Given the description of an element on the screen output the (x, y) to click on. 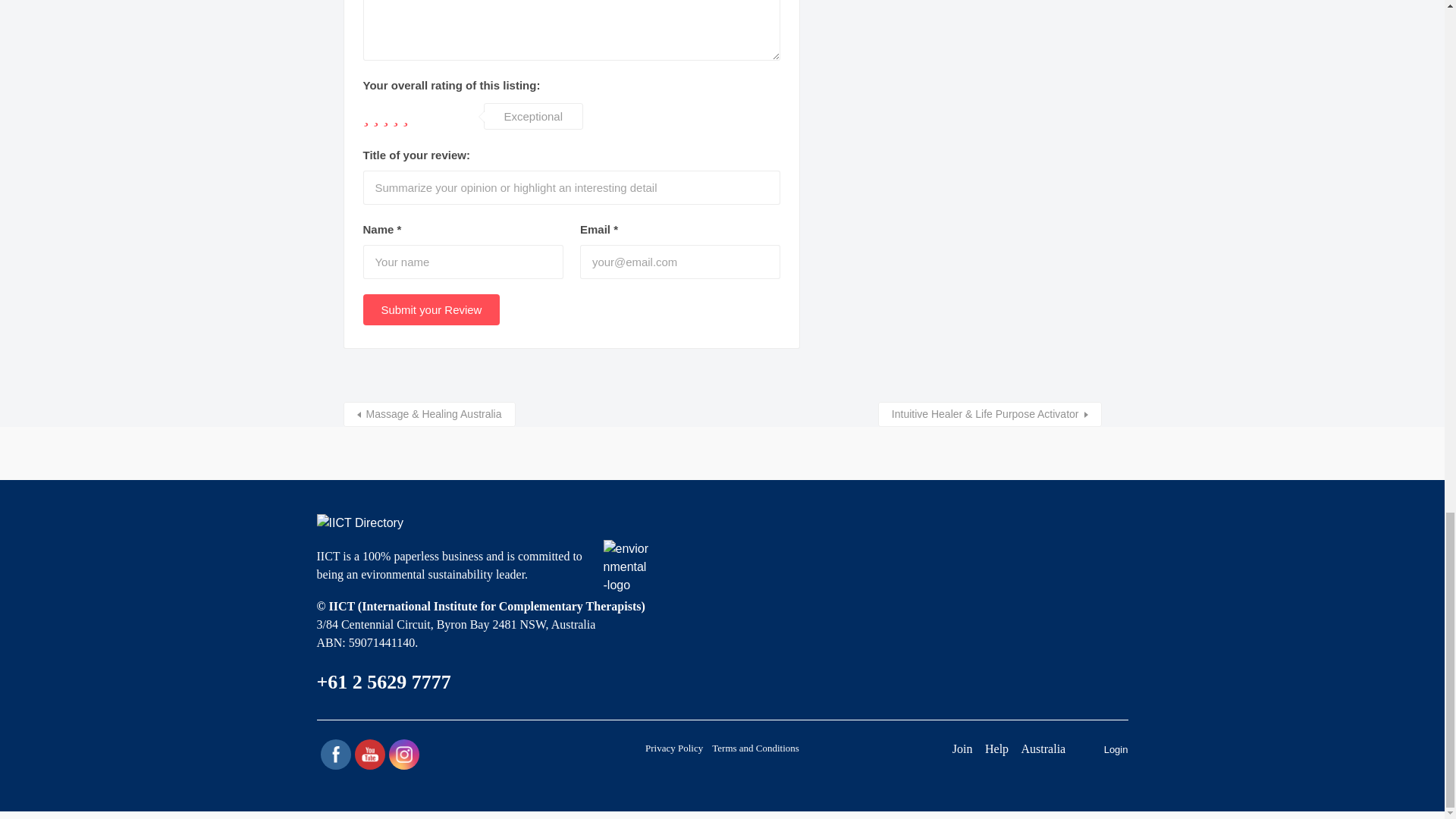
Australia (1043, 748)
Australia (1043, 748)
Instagram (404, 754)
Facebook (335, 754)
Submit your Review (430, 309)
Join (961, 748)
Privacy Policy (673, 747)
Terms and Conditions (755, 747)
Help (996, 748)
Submit your Review (430, 309)
YouTube (369, 754)
